Given the description of an element on the screen output the (x, y) to click on. 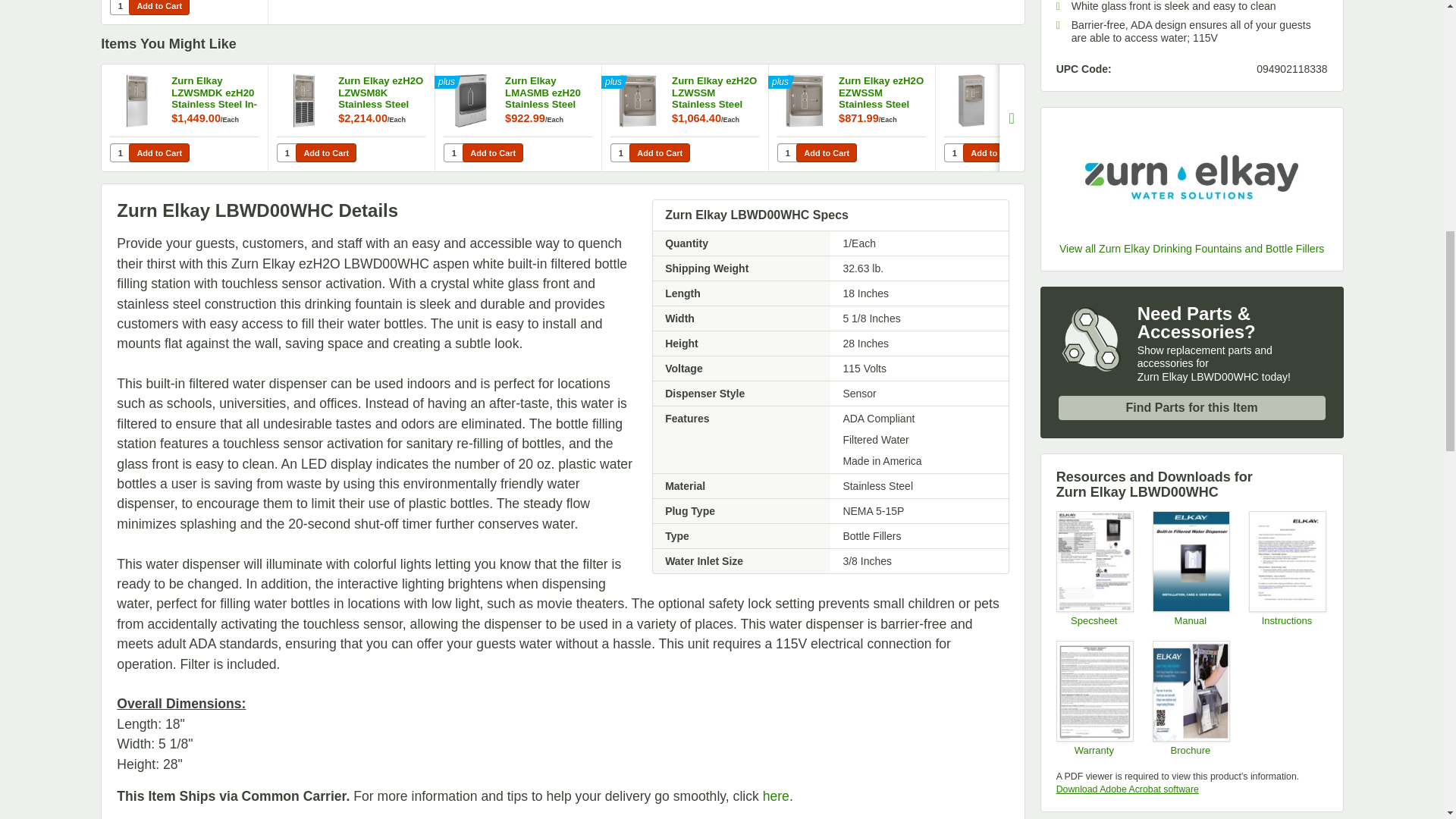
Add to Cart (492, 152)
1 (954, 152)
Add to Cart (992, 152)
1 (620, 152)
1 (120, 7)
1 (287, 152)
Zurn Elkay (1192, 248)
Add to Cart (325, 152)
1 (454, 152)
Zurn Elkay (1192, 176)
